Given the description of an element on the screen output the (x, y) to click on. 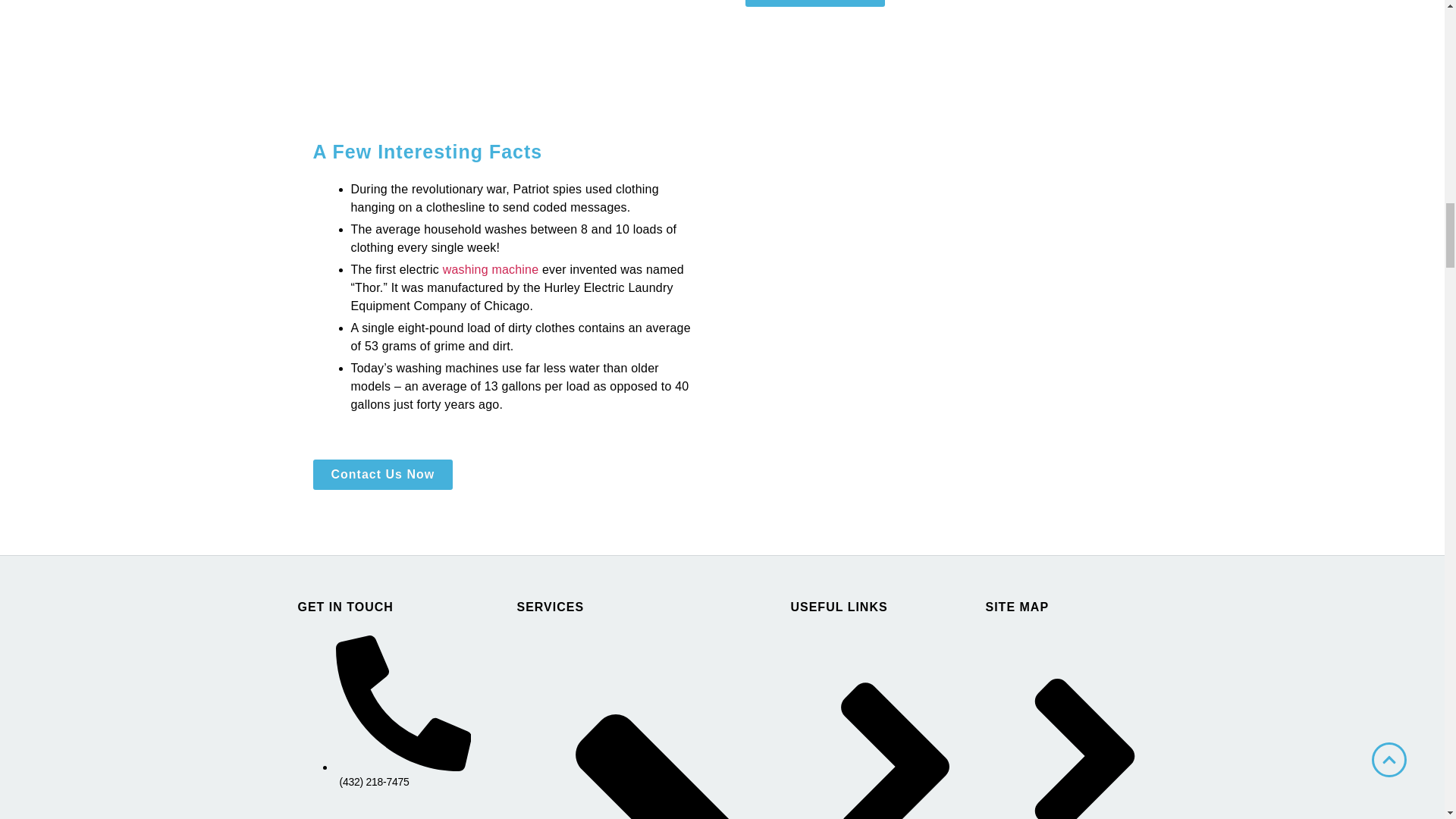
Contact Us Now (814, 3)
Self-Service Laundry (664, 725)
Contact Us Now (382, 474)
washing machine (490, 269)
